Given the description of an element on the screen output the (x, y) to click on. 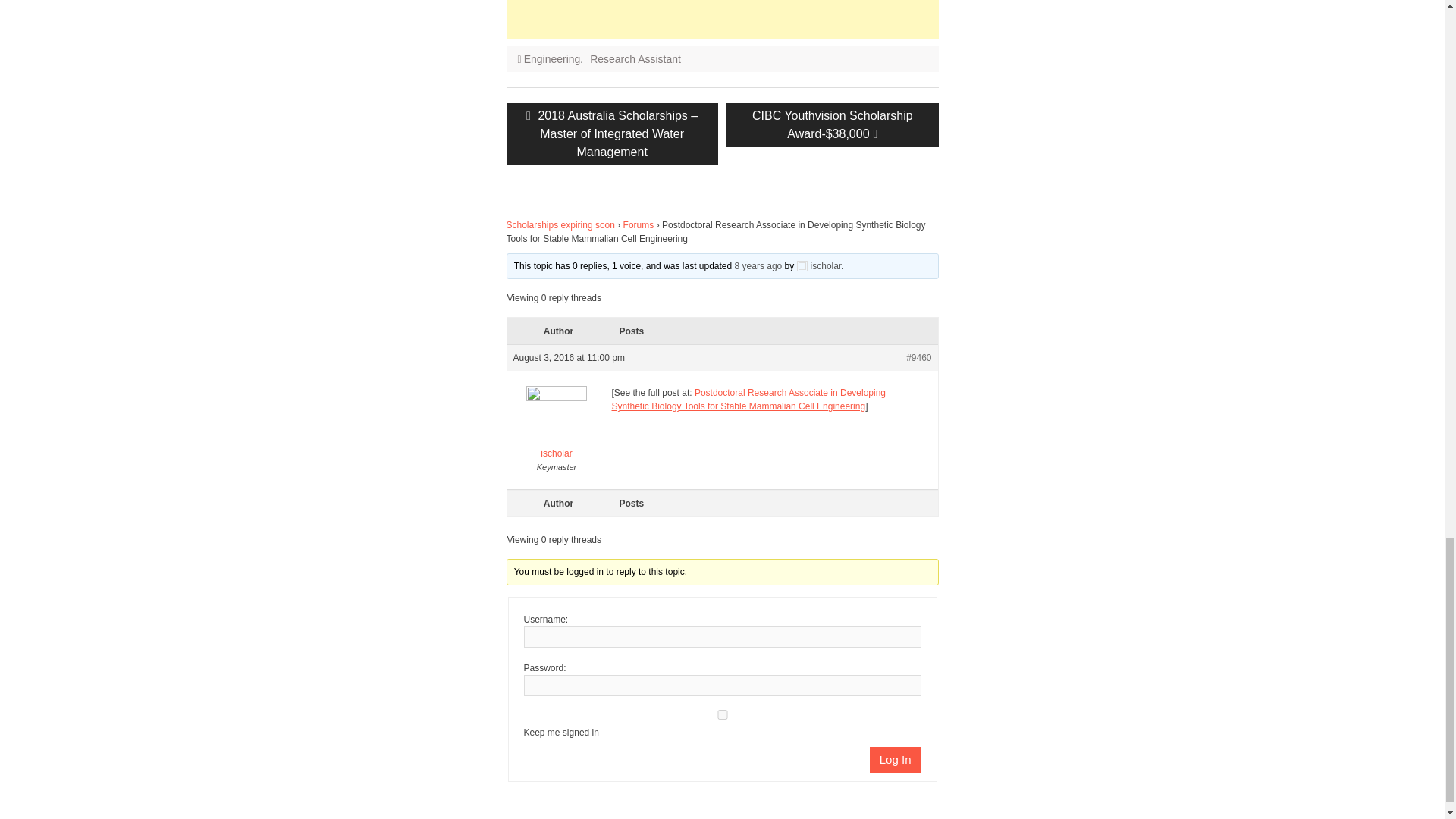
forever (721, 714)
View ischolar's profile (555, 426)
View ischolar's profile (818, 266)
